Given the description of an element on the screen output the (x, y) to click on. 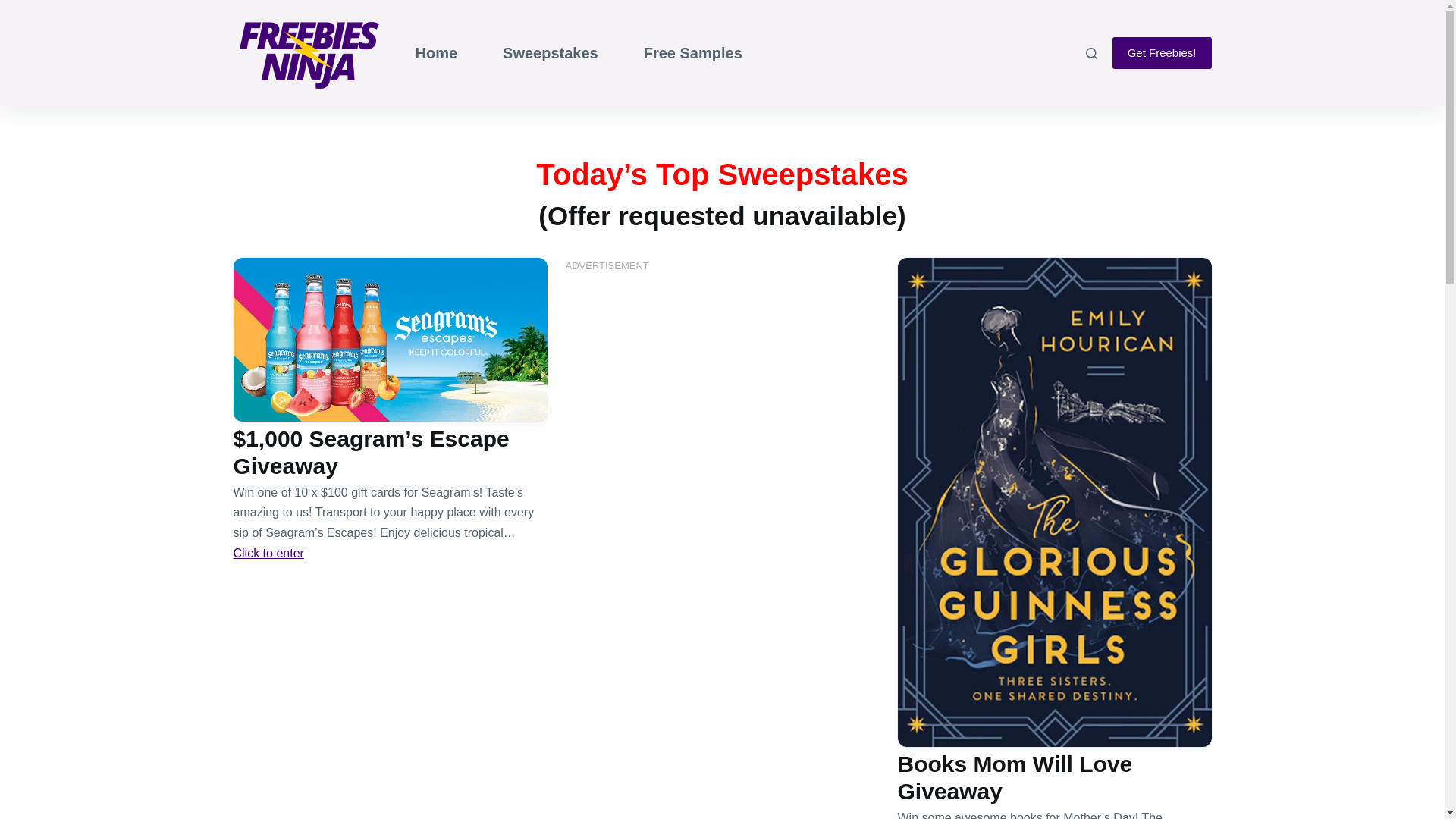
Click to enter (268, 553)
Sweepstakes (550, 53)
Books Mom Will Love Giveaway (1015, 777)
Free Samples (693, 53)
Advertisement (721, 383)
Get Freebies! (1161, 52)
Skip to content (15, 7)
